Given the description of an element on the screen output the (x, y) to click on. 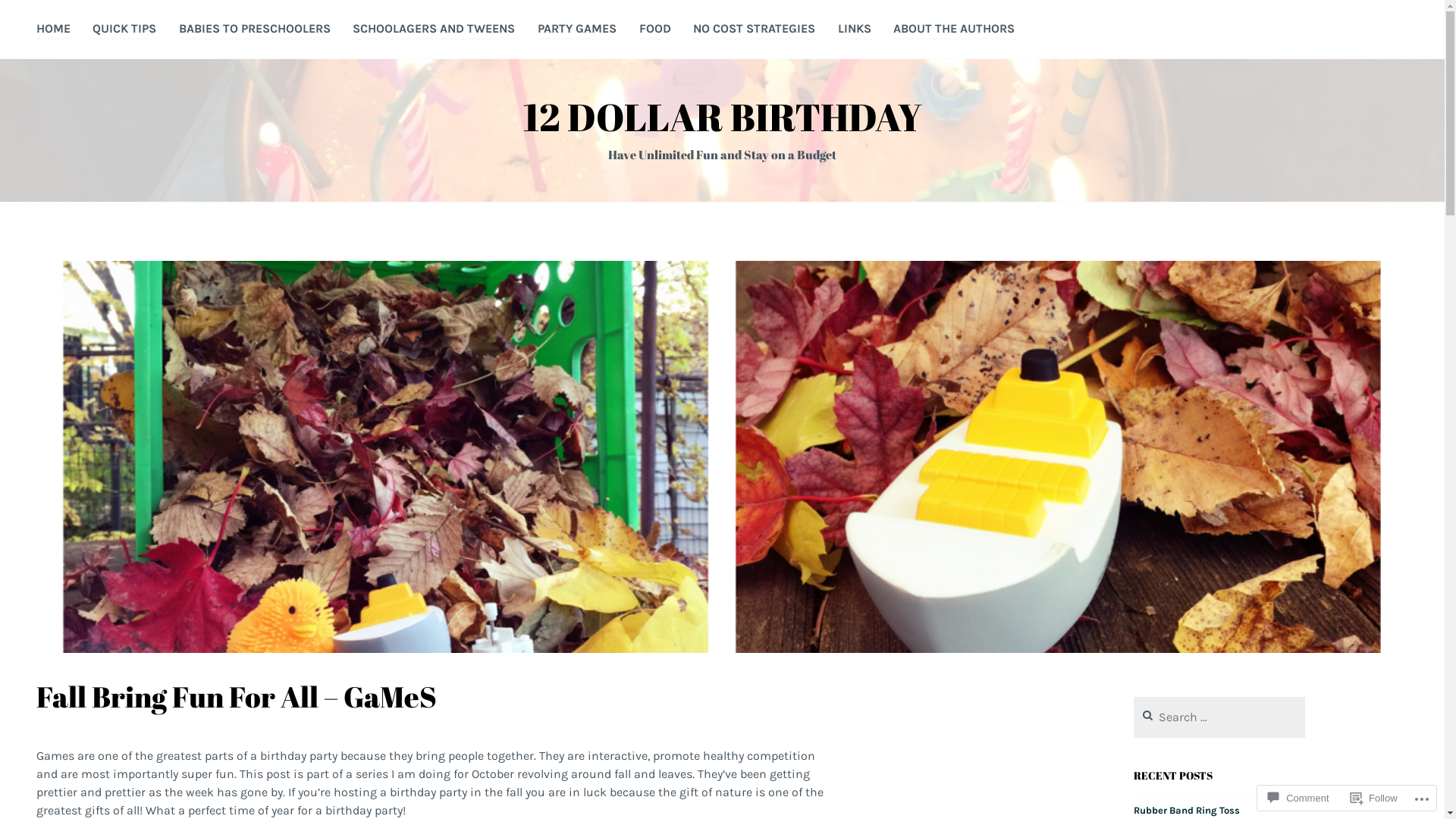
12 DOLLAR BIRTHDAY Element type: text (722, 116)
NO COST STRATEGIES Element type: text (754, 29)
LINKS Element type: text (854, 29)
BABIES TO PRESCHOOLERS Element type: text (254, 29)
Follow Element type: text (1373, 797)
HOME Element type: text (53, 29)
Comment Element type: text (1297, 797)
SCHOOLAGERS AND TWEENS Element type: text (433, 29)
Search Element type: text (34, 15)
QUICK TIPS Element type: text (124, 29)
ABOUT THE AUTHORS Element type: text (953, 29)
FOOD Element type: text (655, 29)
PARTY GAMES Element type: text (576, 29)
Rubber Band Ring Toss Element type: text (1186, 810)
